Given the description of an element on the screen output the (x, y) to click on. 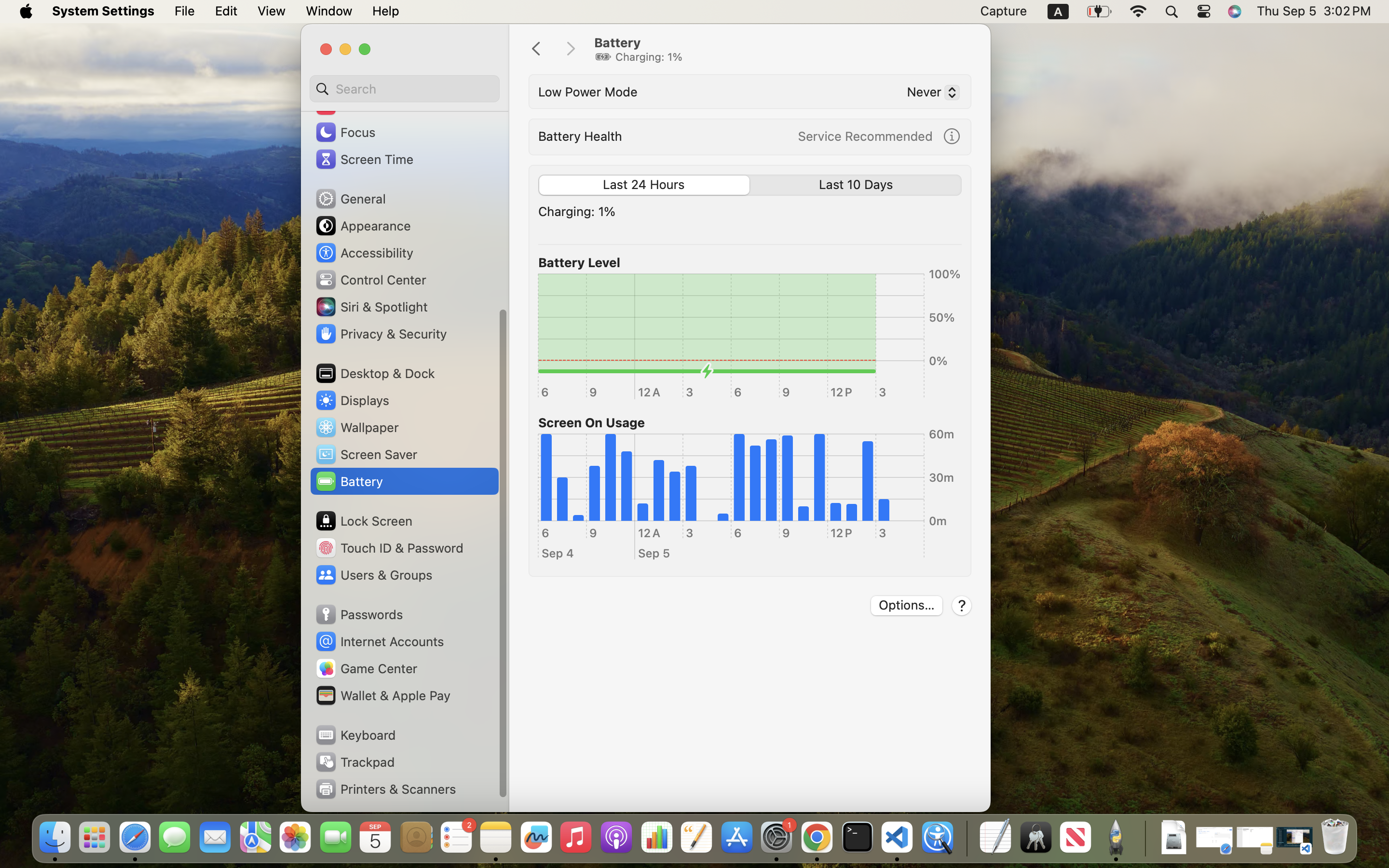
Wallpaper Element type: AXStaticText (356, 426)
Focus Element type: AXStaticText (344, 131)
Screen On Usage Element type: AXStaticText (591, 422)
Screen Time Element type: AXStaticText (363, 158)
Sound Element type: AXStaticText (346, 104)
